Given the description of an element on the screen output the (x, y) to click on. 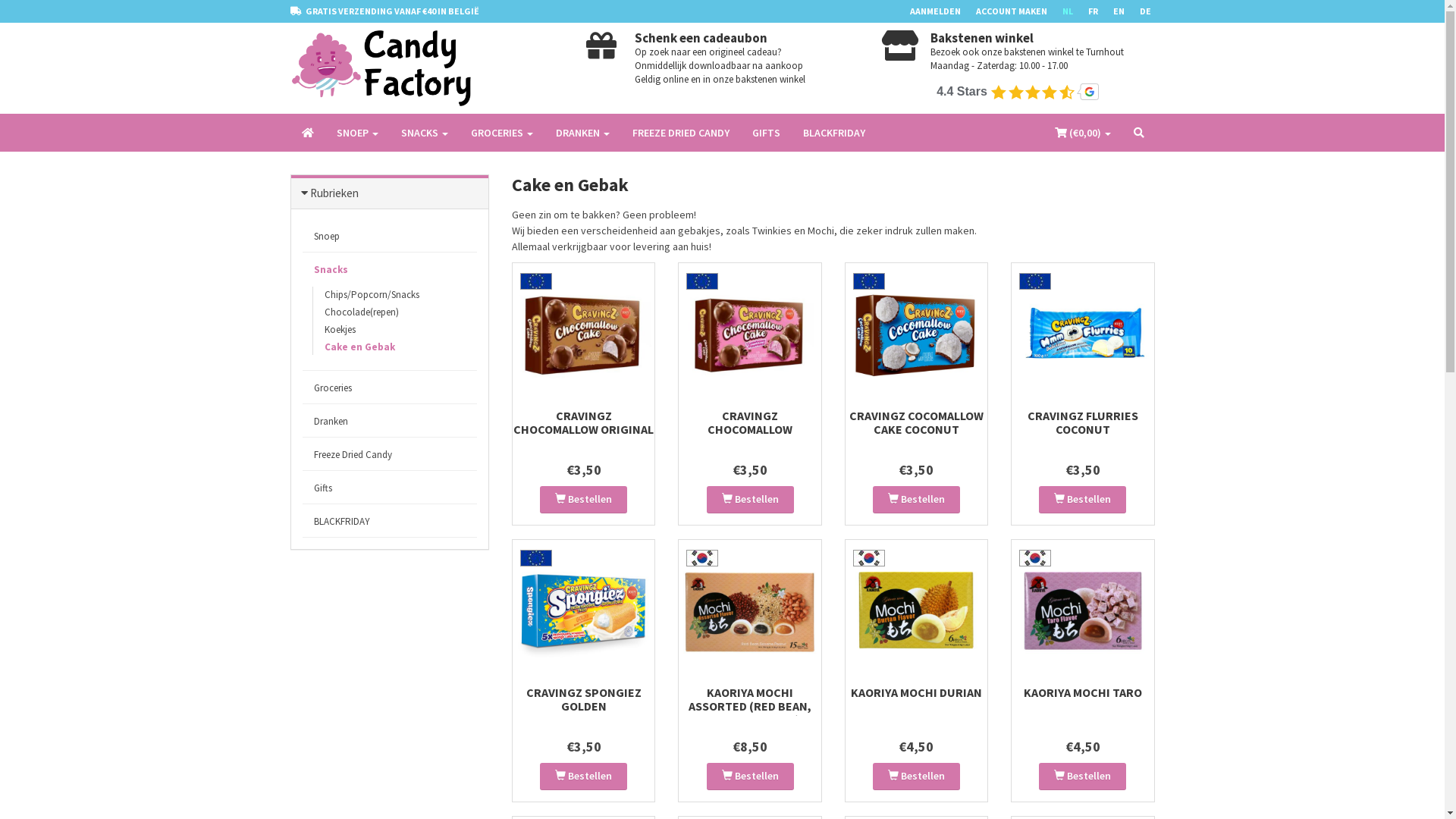
CRAVINGZ FLURRIES COCONUT Element type: text (1082, 421)
Bestellen Element type: text (1082, 499)
Rubrieken Element type: text (333, 192)
SNOEP Element type: text (356, 132)
Groceries Element type: text (388, 387)
Bestellen Element type: text (916, 776)
CRAVINGZ CHOCOMALLOW STRAWBERRY Element type: text (749, 428)
BLACKFRIDAY Element type: text (388, 520)
Bestellen Element type: text (749, 499)
DRANKEN Element type: text (582, 132)
KAORIYA MOCHI ASSORTED (RED BEAN, SESAME, PEANUT) Element type: text (749, 705)
Snoep Element type: text (388, 235)
Chips/Popcorn/Snacks Element type: text (370, 294)
ACCOUNT MAKEN Element type: text (1018, 11)
Koekjes Element type: text (339, 329)
GROCERIES Element type: text (501, 132)
AANMELDEN Element type: text (942, 11)
Bestellen Element type: text (749, 776)
Snacks Element type: text (388, 269)
Bestellen Element type: text (583, 776)
Bestellen Element type: text (1082, 776)
DE Element type: text (1152, 11)
Gifts Element type: text (388, 487)
EN Element type: text (1126, 11)
Chocolade(repen) Element type: text (360, 312)
Freeze Dried Candy Element type: text (388, 454)
Bestellen Element type: text (916, 499)
BLACKFRIDAY Element type: text (833, 132)
Bestellen Element type: text (583, 499)
CRAVINGZ SPONGIEZ GOLDEN Element type: text (583, 698)
SNACKS Element type: text (424, 132)
CRAVINGZ COCOMALLOW CAKE COCONUT Element type: text (916, 421)
CRAVINGZ CHOCOMALLOW ORIGINAL Element type: text (583, 421)
KAORIYA MOCHI DURIAN Element type: text (916, 691)
KAORIYA MOCHI TARO Element type: text (1082, 691)
4.4 Stars Element type: text (1018, 91)
GIFTS Element type: text (765, 132)
FREEZE DRIED CANDY Element type: text (680, 132)
Cake en Gebak Element type: text (358, 346)
FR Element type: text (1099, 11)
NL Element type: text (1074, 11)
Dranken Element type: text (388, 420)
